Given the description of an element on the screen output the (x, y) to click on. 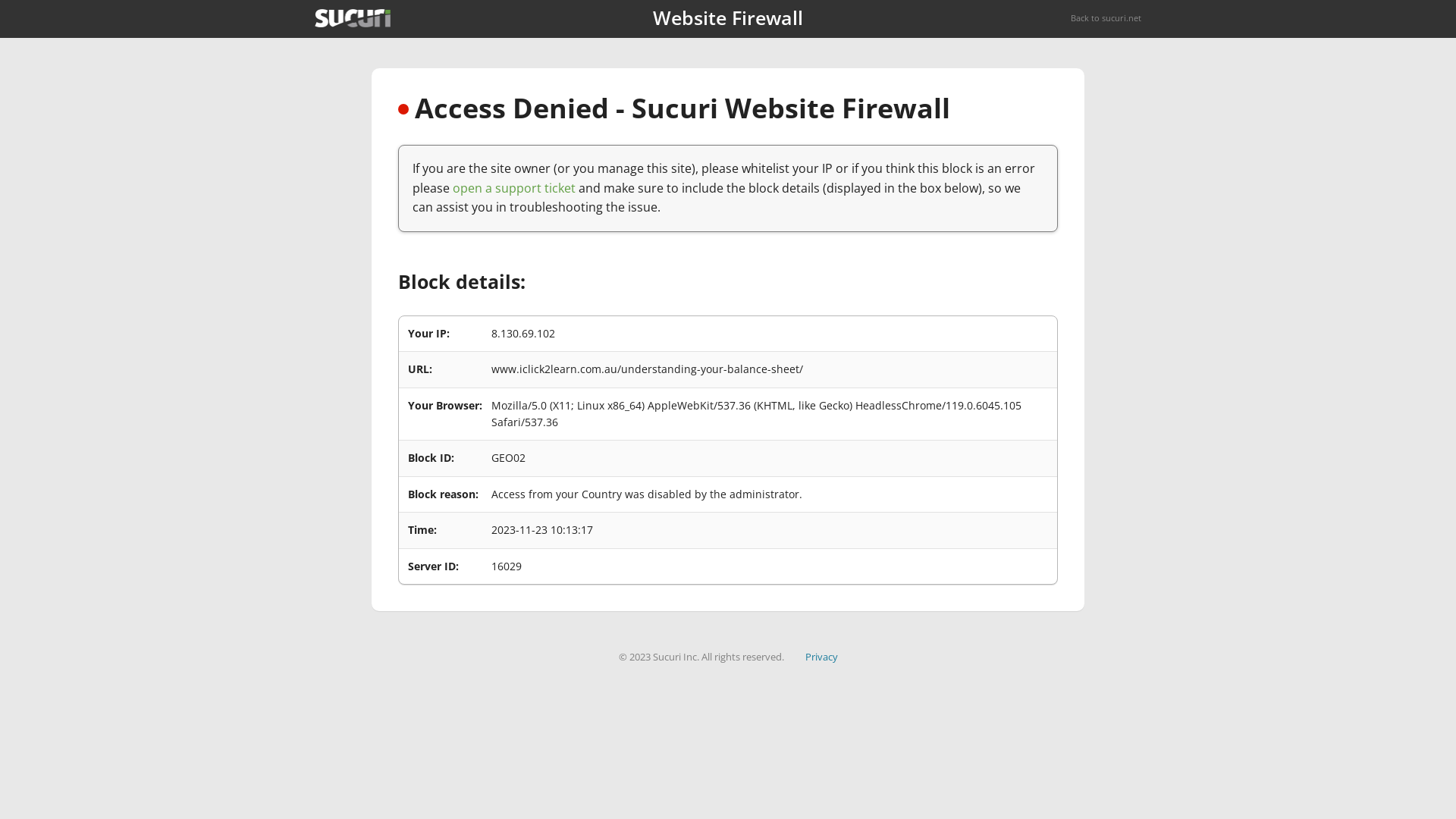
open a support ticket Element type: text (513, 187)
Privacy Element type: text (821, 656)
Back to sucuri.net Element type: text (1105, 18)
